Given the description of an element on the screen output the (x, y) to click on. 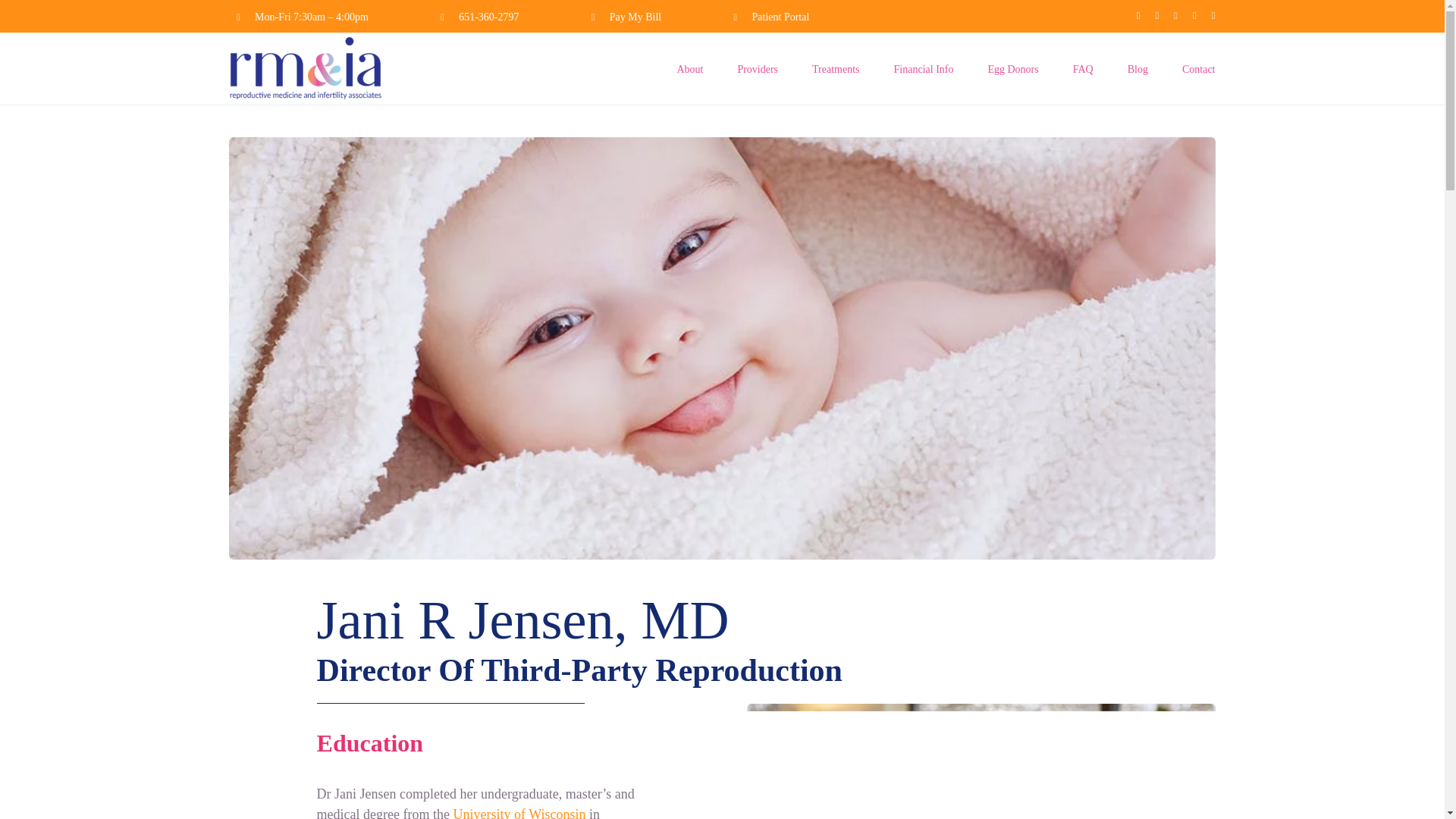
Pay My Bill (635, 16)
Patient Portal (780, 16)
Jani Jensen MD RMIA full 2024 (980, 761)
651-360-2797 (488, 16)
University of Wisconsin (519, 812)
